Given the description of an element on the screen output the (x, y) to click on. 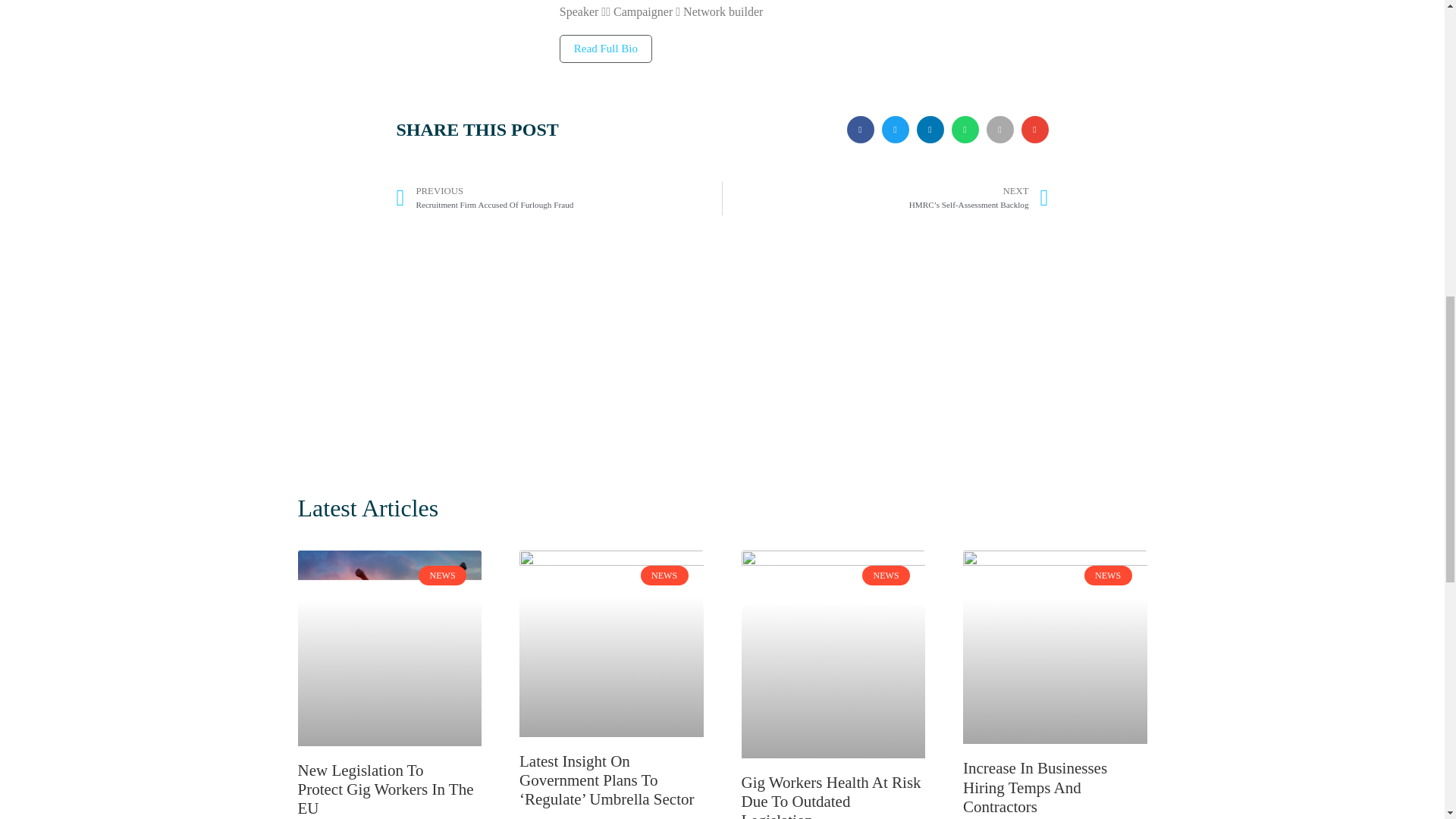
Increase In Businesses Hiring Temps And Contractors (1034, 786)
Read Full Bio (605, 49)
New Legislation To Protect Gig Workers In The EU (385, 789)
Gig Workers Health At Risk Due To Outdated Legislation (559, 197)
